Given the description of an element on the screen output the (x, y) to click on. 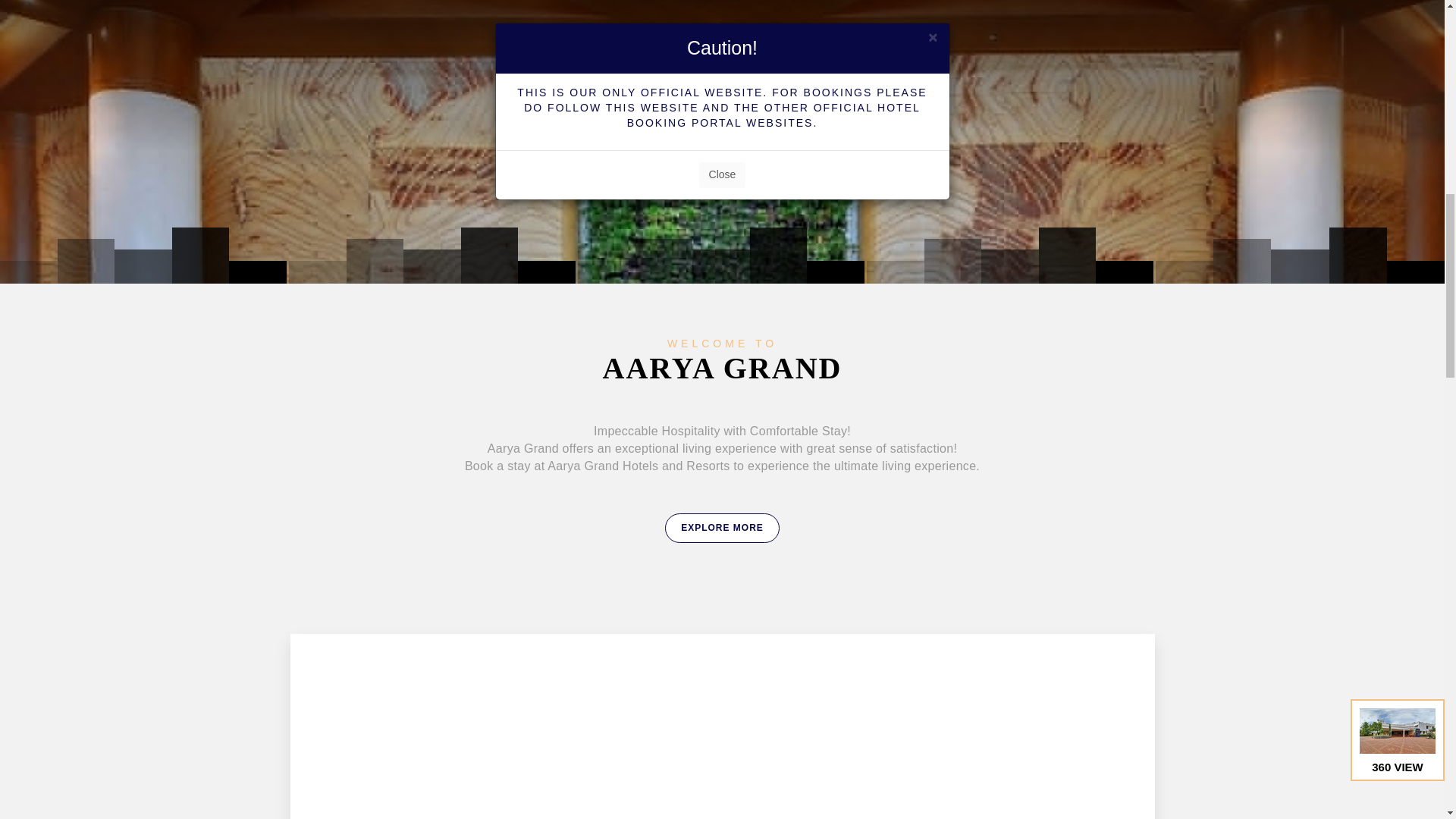
EXPLORE MORE (721, 527)
